Given the description of an element on the screen output the (x, y) to click on. 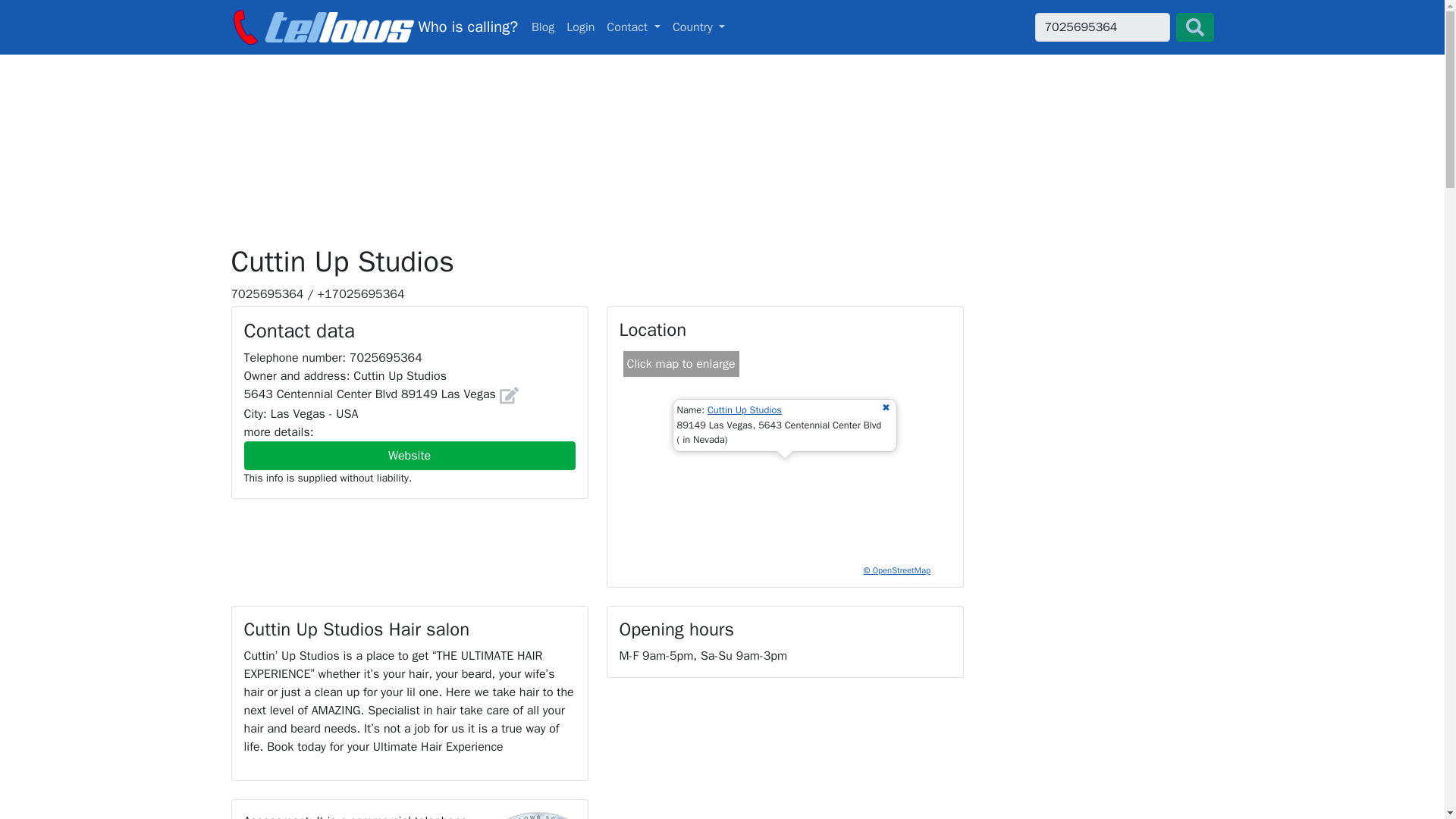
Who is calling? (373, 26)
Login (579, 27)
Blog (722, 26)
Contact (542, 27)
Country (632, 27)
Blog (699, 27)
7025695364 (542, 27)
Website (1101, 27)
tellows - the community for calls, phone spam and complaints (409, 455)
Cuttin Up Studios (373, 26)
